Given the description of an element on the screen output the (x, y) to click on. 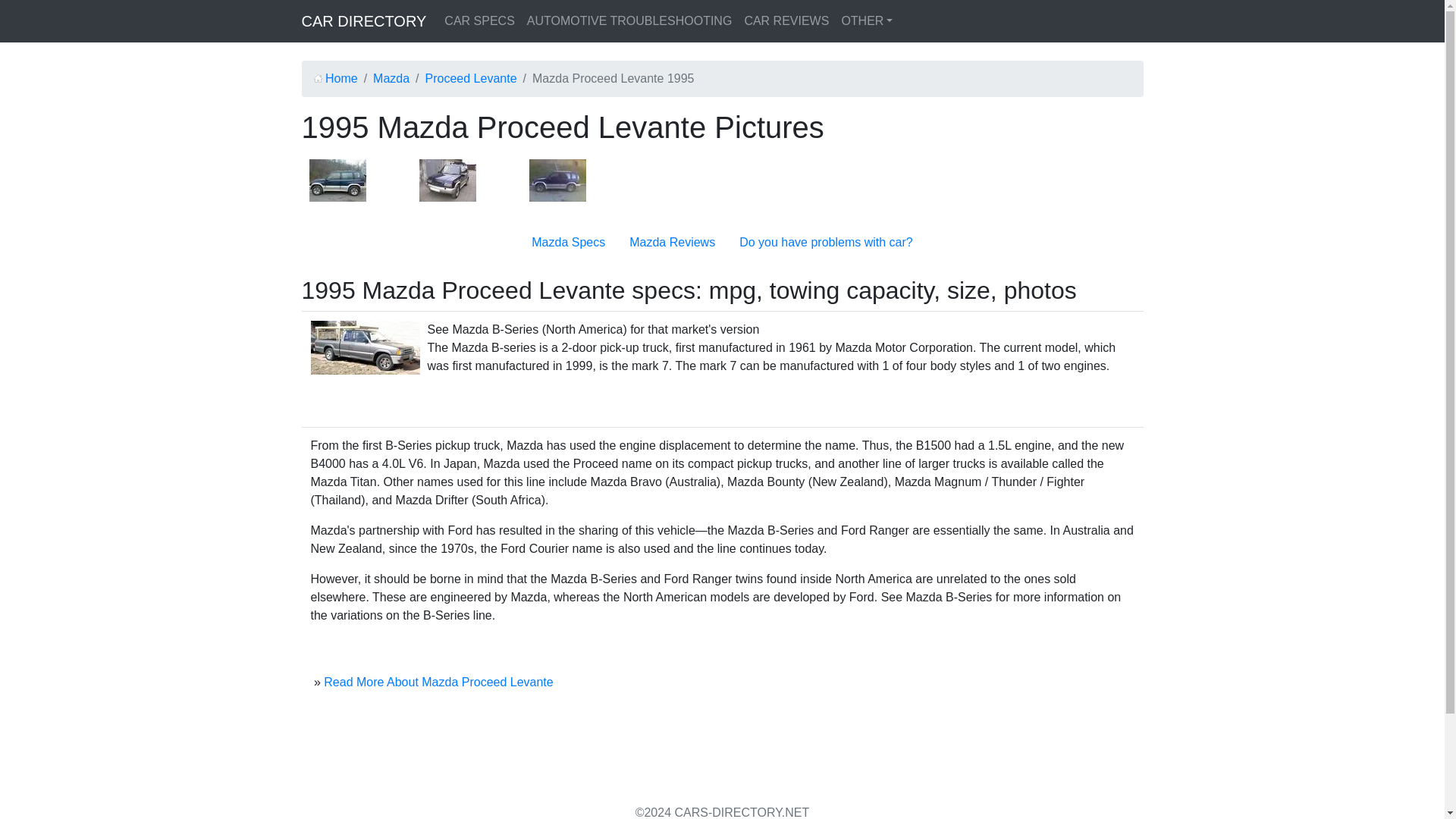
Mazda (390, 78)
CAR DIRECTORY (363, 20)
The full specification on the Mazda (568, 241)
Read More About Mazda Proceed Levante (438, 681)
AUTOMOTIVE TROUBLESHOOTING (629, 20)
Mazda Specs (568, 241)
CAR SPECS (478, 20)
CAR REVIEWS (786, 20)
Do you have problems with car? (825, 241)
Proceed Levante (470, 78)
